Given the description of an element on the screen output the (x, y) to click on. 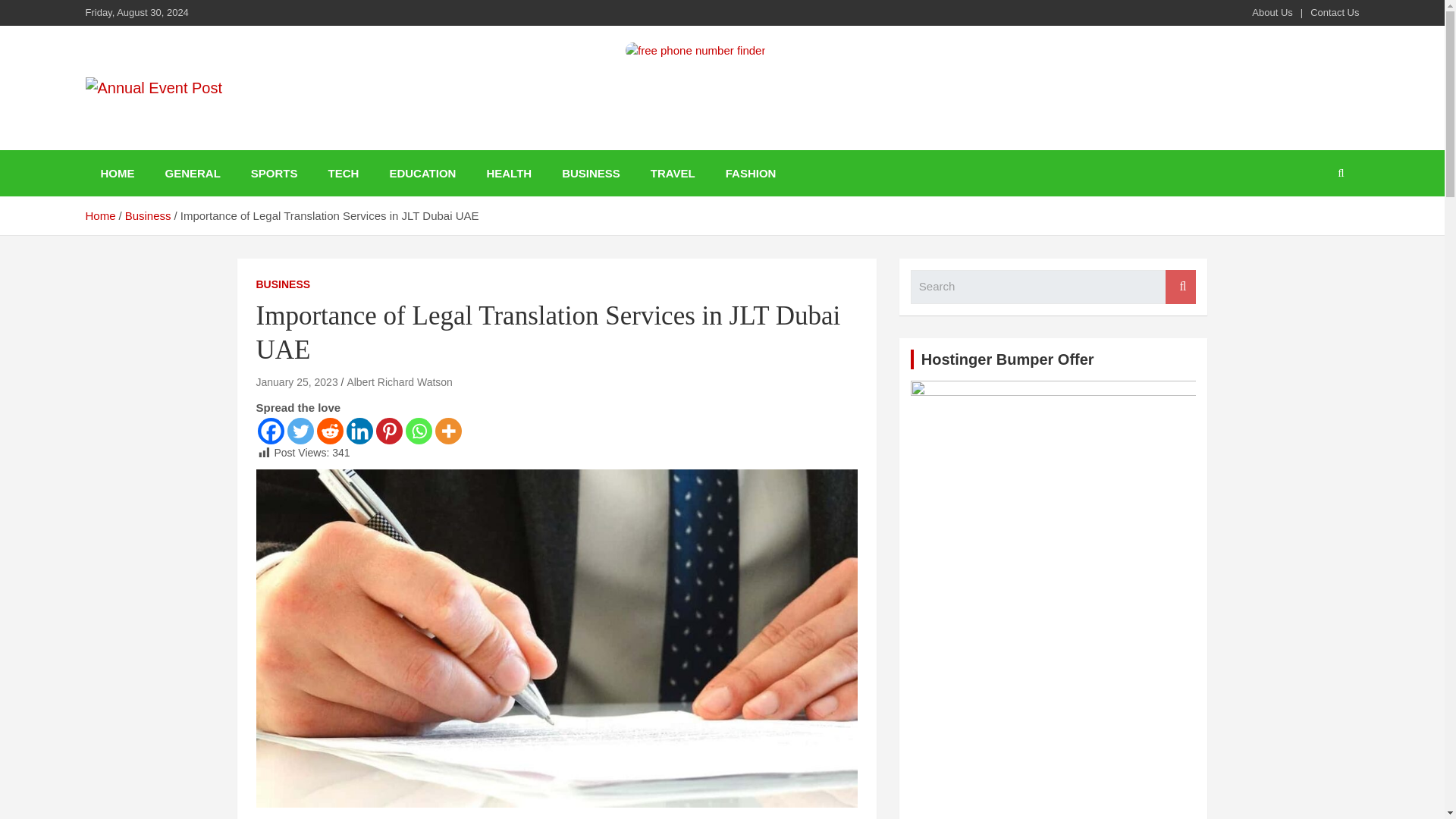
Linkedin (359, 430)
Whatsapp (417, 430)
GENERAL (192, 172)
Facebook (270, 430)
FASHION (751, 172)
BUSINESS (590, 172)
Importance of Legal Translation Services in JLT Dubai UAE (296, 381)
EDUCATION (422, 172)
January 25, 2023 (296, 381)
HOME (116, 172)
